Given the description of an element on the screen output the (x, y) to click on. 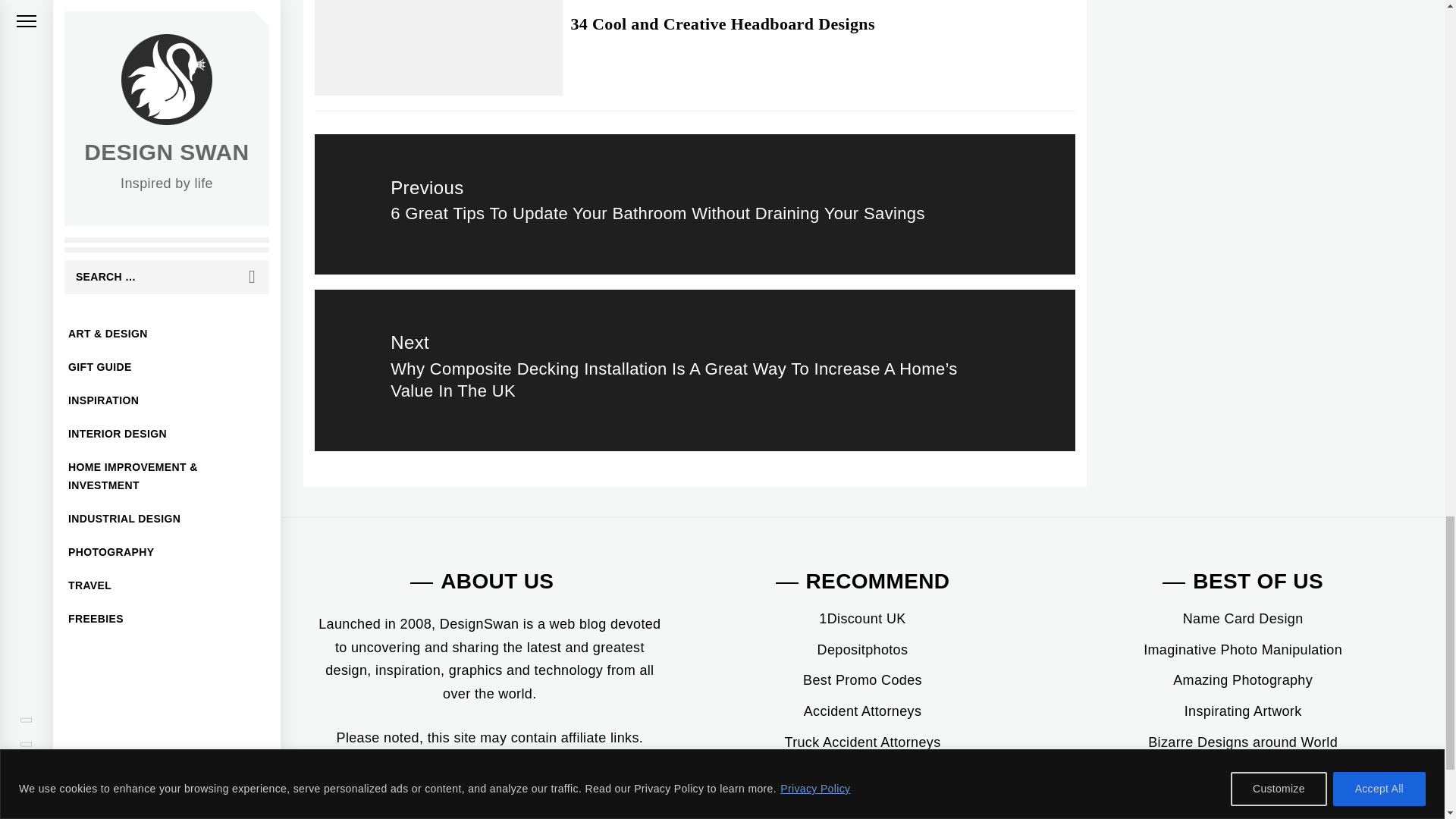
UK Voucher Codes (861, 618)
Name Card Design (1242, 618)
